Given the description of an element on the screen output the (x, y) to click on. 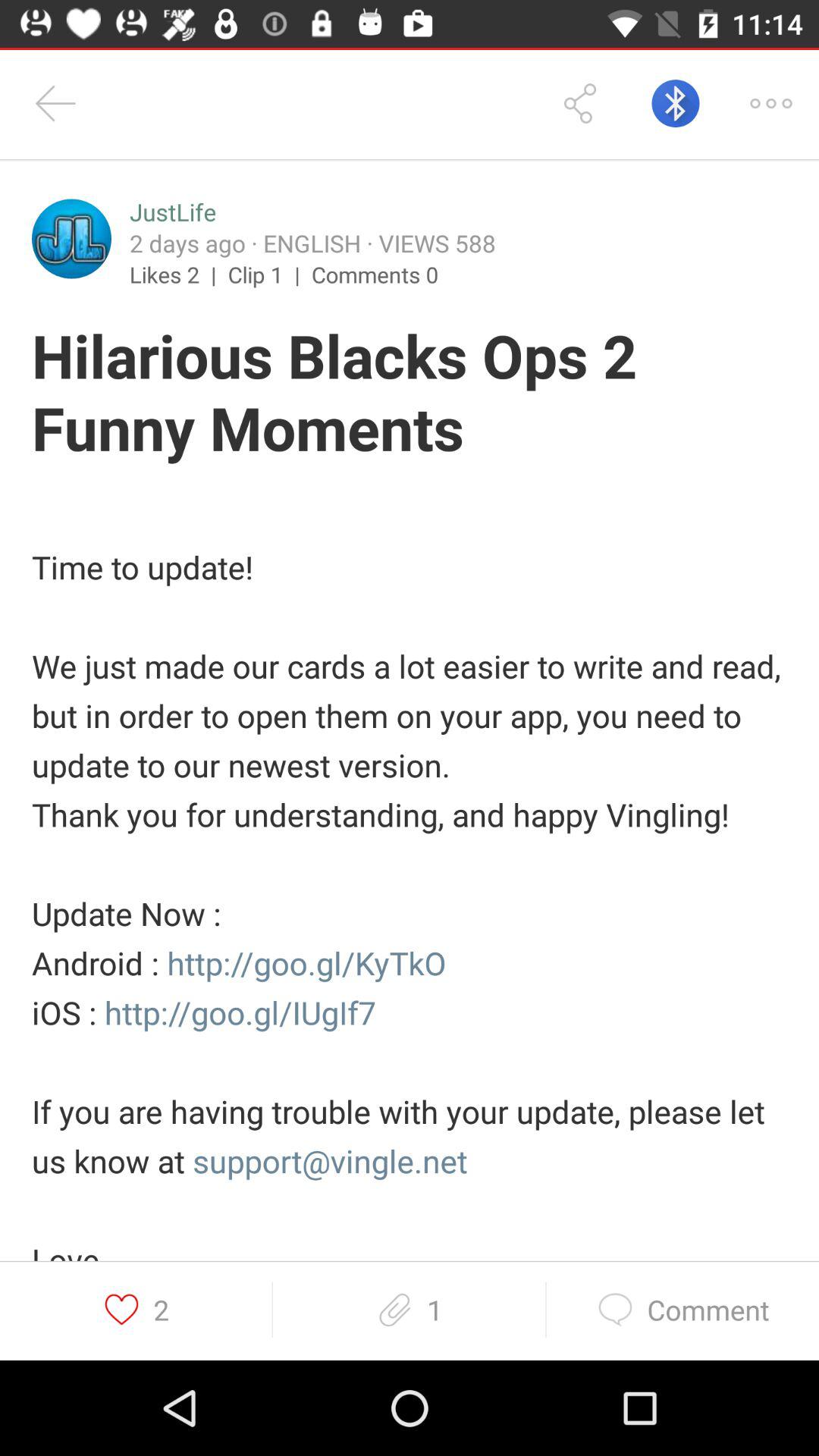
tap the clip 1  | (269, 274)
